Given the description of an element on the screen output the (x, y) to click on. 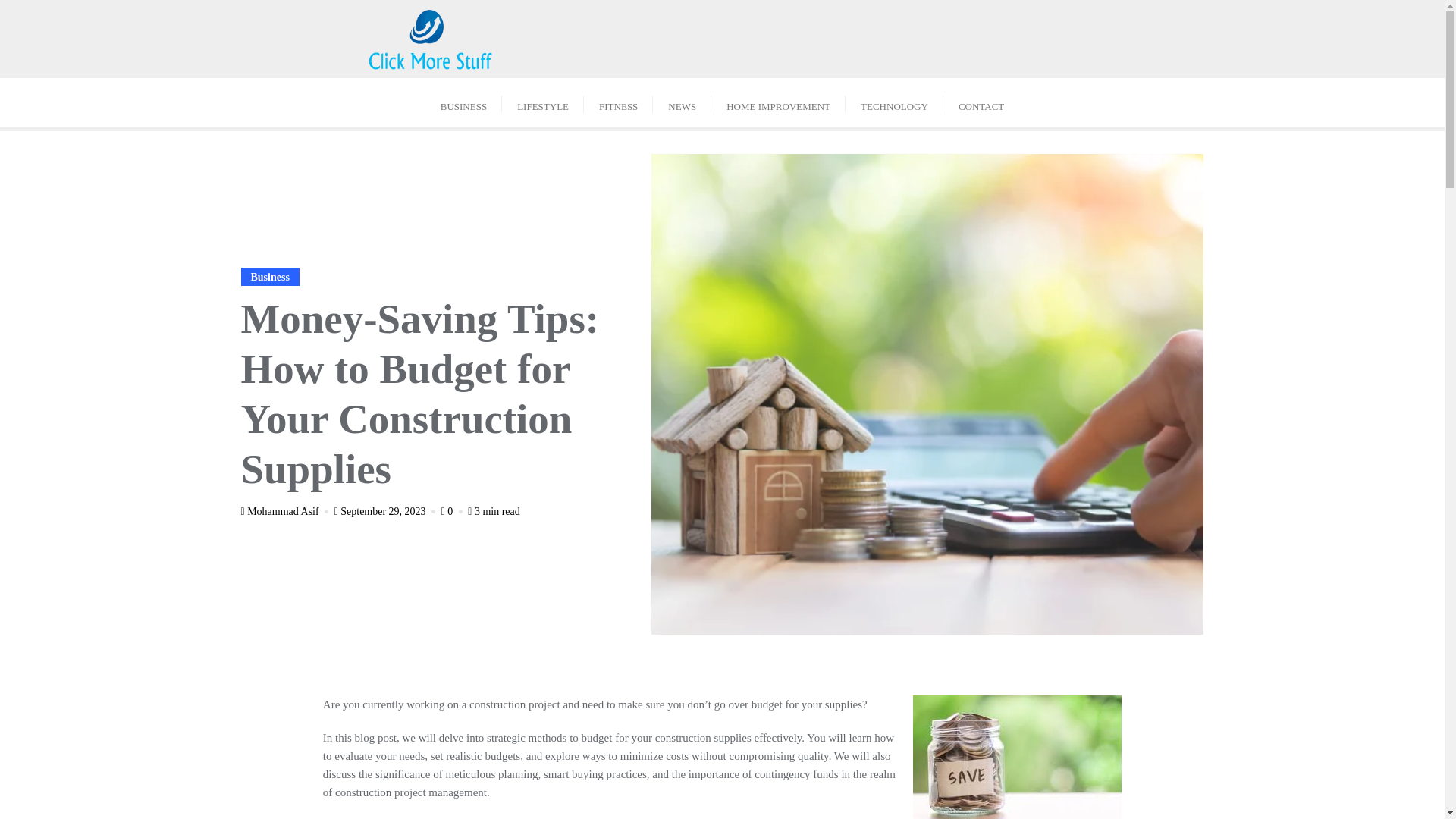
CONTACT (981, 102)
Mohammad Asif (286, 511)
BUSINESS (463, 102)
September 29, 2023 (386, 511)
HOME IMPROVEMENT (778, 102)
NEWS (681, 102)
LIFESTYLE (542, 102)
3 min read (493, 511)
FITNESS (617, 102)
0 (453, 511)
TECHNOLOGY (894, 102)
Business (270, 276)
